Given the description of an element on the screen output the (x, y) to click on. 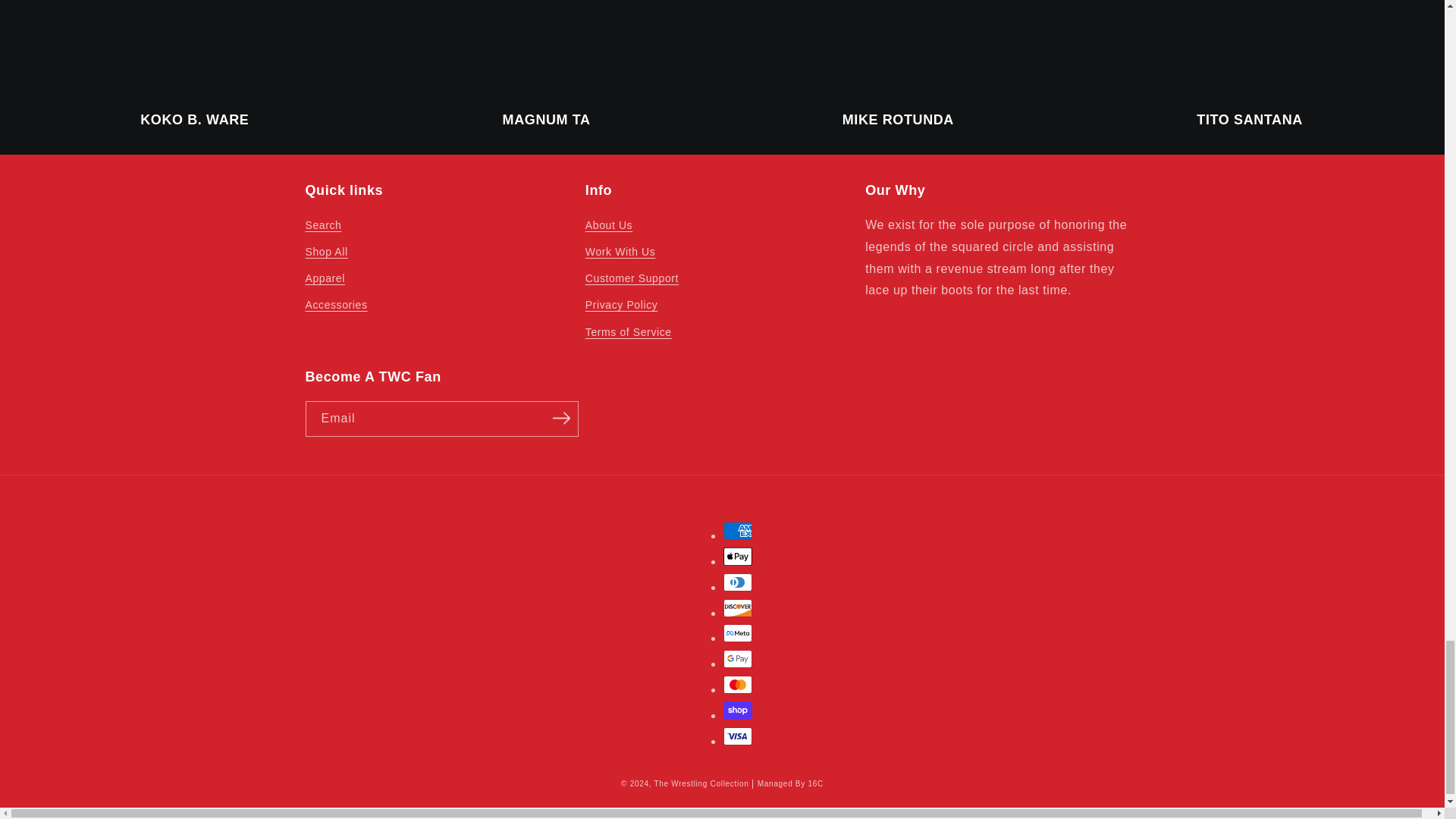
Magnum TA (546, 48)
Shop Pay (737, 710)
Mike Rotunda (897, 48)
Google Pay (737, 659)
Koko B. Ware (194, 48)
Tito Santana (1248, 48)
Meta Pay (737, 633)
Discover (737, 607)
Apple Pay (737, 556)
Diners Club (737, 582)
